Given the description of an element on the screen output the (x, y) to click on. 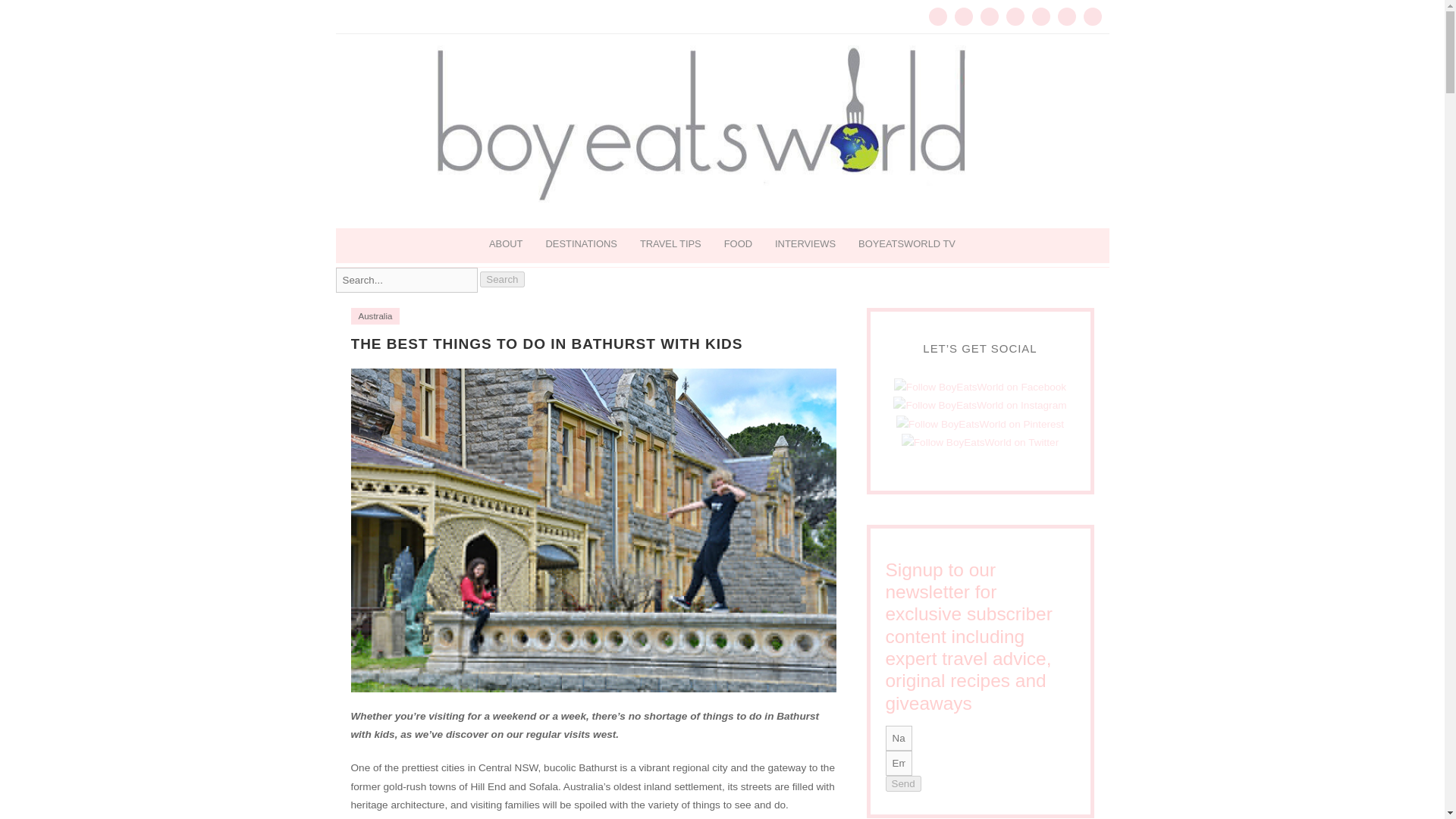
Facebook (962, 16)
DESTINATIONS (580, 244)
Pinterest (988, 16)
ABOUT (505, 244)
Search (405, 279)
Twitter (937, 16)
Email (1091, 16)
RSS Feed (1066, 16)
Search (502, 279)
YouTube (1039, 16)
